Given the description of an element on the screen output the (x, y) to click on. 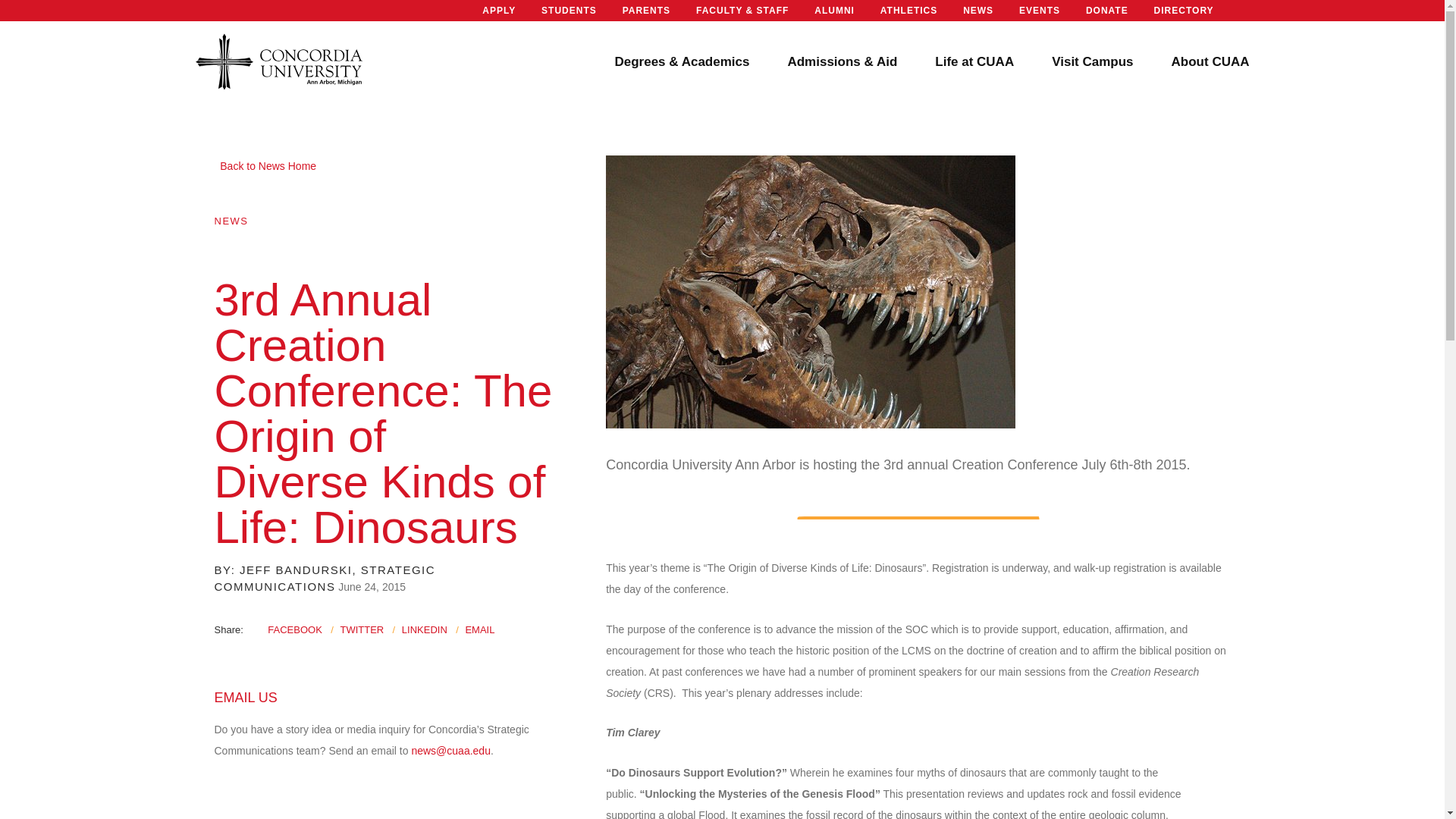
EVENTS (1039, 10)
About CUAA (1210, 61)
ALUMNI (833, 10)
Life at CUAA (973, 61)
EMAIL (479, 629)
FACEBOOK (294, 629)
BY: JEFF BANDURSKI, STRATEGIC COMMUNICATIONS (324, 578)
Visit Campus (1091, 61)
TWITTER (361, 629)
LINKEDIN (423, 629)
